Given the description of an element on the screen output the (x, y) to click on. 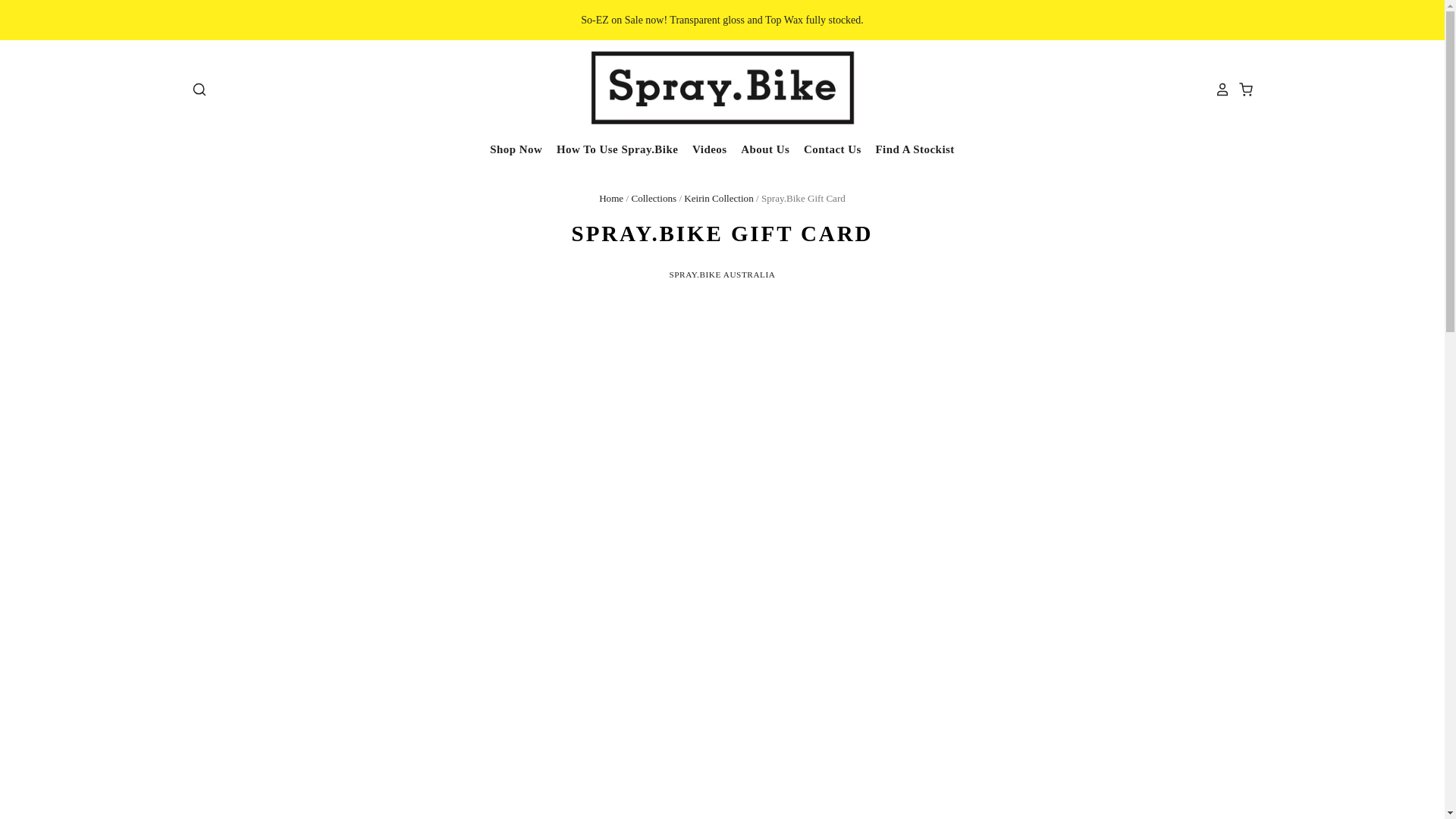
How To Use Spray.Bike (610, 148)
About Us (759, 148)
Keirin Collection (718, 197)
Shop Now (516, 148)
Contact Us (825, 148)
Home (610, 197)
Find A Stockist (908, 148)
SPRAY.BIKE AUSTRALIA (721, 274)
Collections (653, 197)
Videos (702, 148)
